Given the description of an element on the screen output the (x, y) to click on. 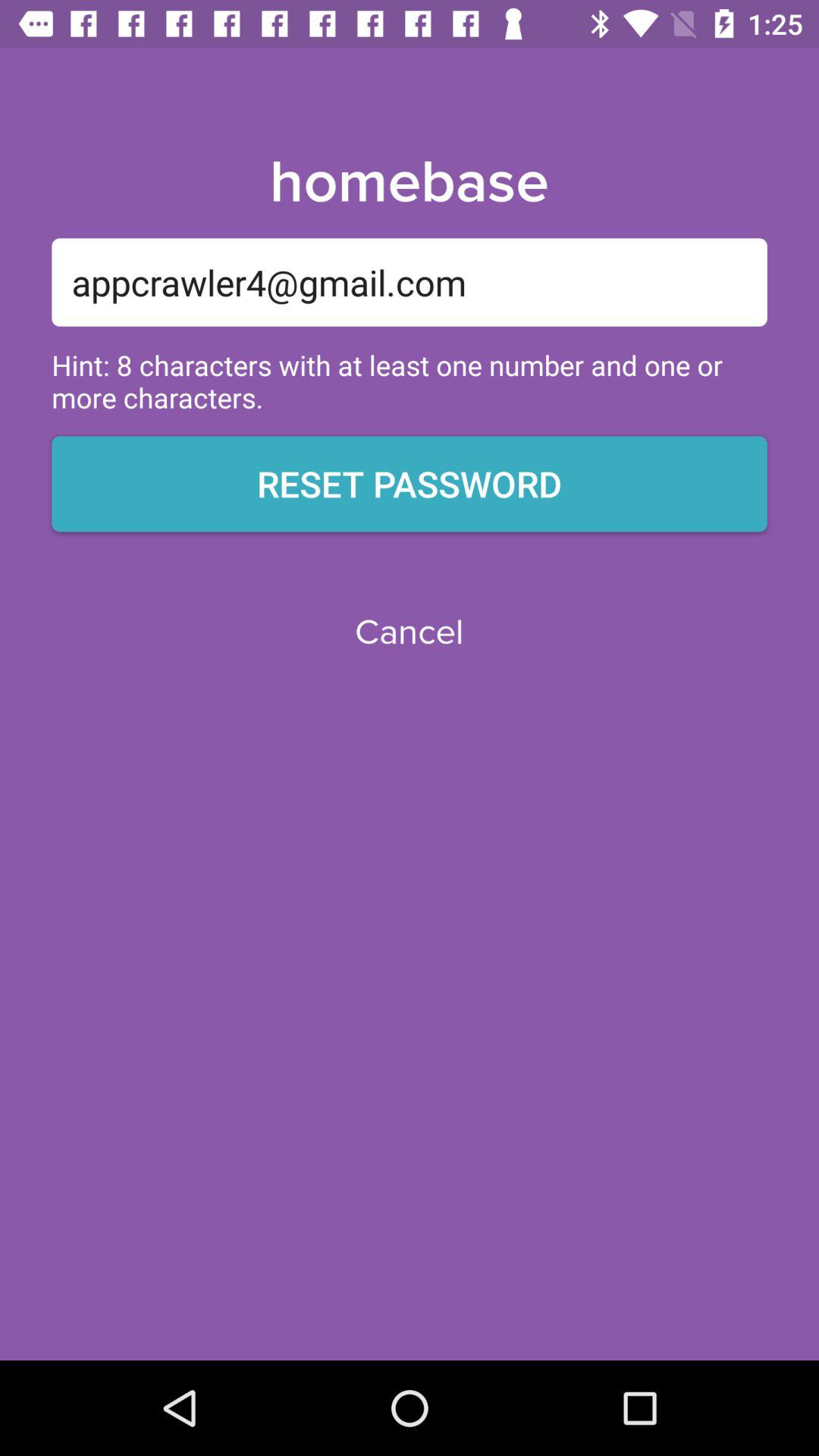
tap appcrawler4@gmail.com icon (409, 282)
